Given the description of an element on the screen output the (x, y) to click on. 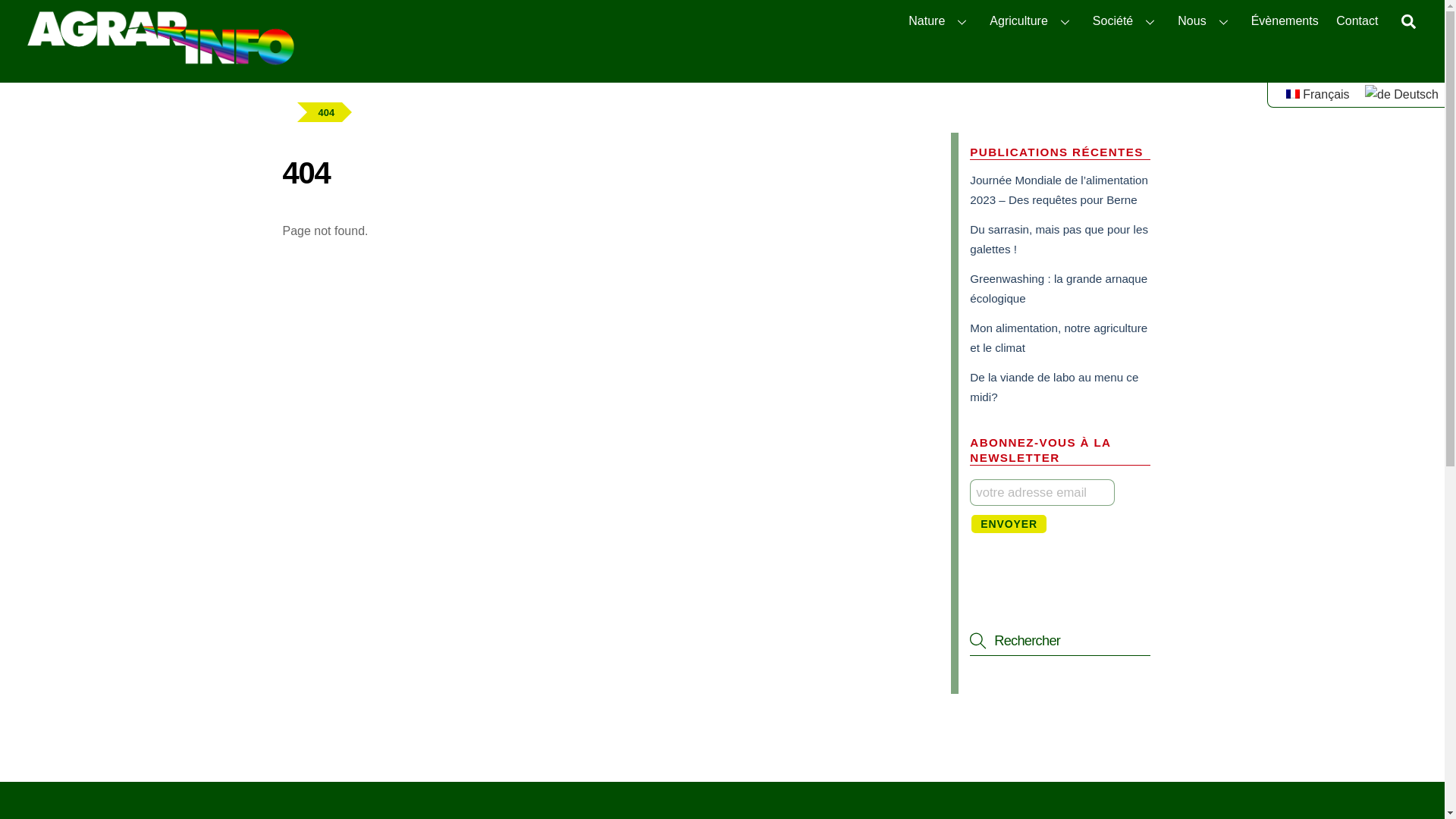
Nature Element type: text (940, 20)
Du sarrasin, mais pas que pour les galettes ! Element type: text (1058, 238)
agrarinfo_logo_RGBneg Element type: hover (159, 37)
Agriculture Element type: text (1032, 20)
Nous Element type: text (1205, 20)
Envoyer Element type: text (1008, 523)
Mon alimentation, notre agriculture et le climat Element type: text (1058, 337)
Deutsch Element type: hover (1377, 94)
404 Element type: text (326, 112)
De la viande de labo au menu ce midi? Element type: text (1053, 386)
Rechercher Element type: text (1408, 20)
Deutsch Element type: text (1401, 93)
Rechercher Element type: hover (1059, 640)
Contact Element type: text (1357, 20)
agrarinfo.ch Element type: hover (159, 60)
